Given the description of an element on the screen output the (x, y) to click on. 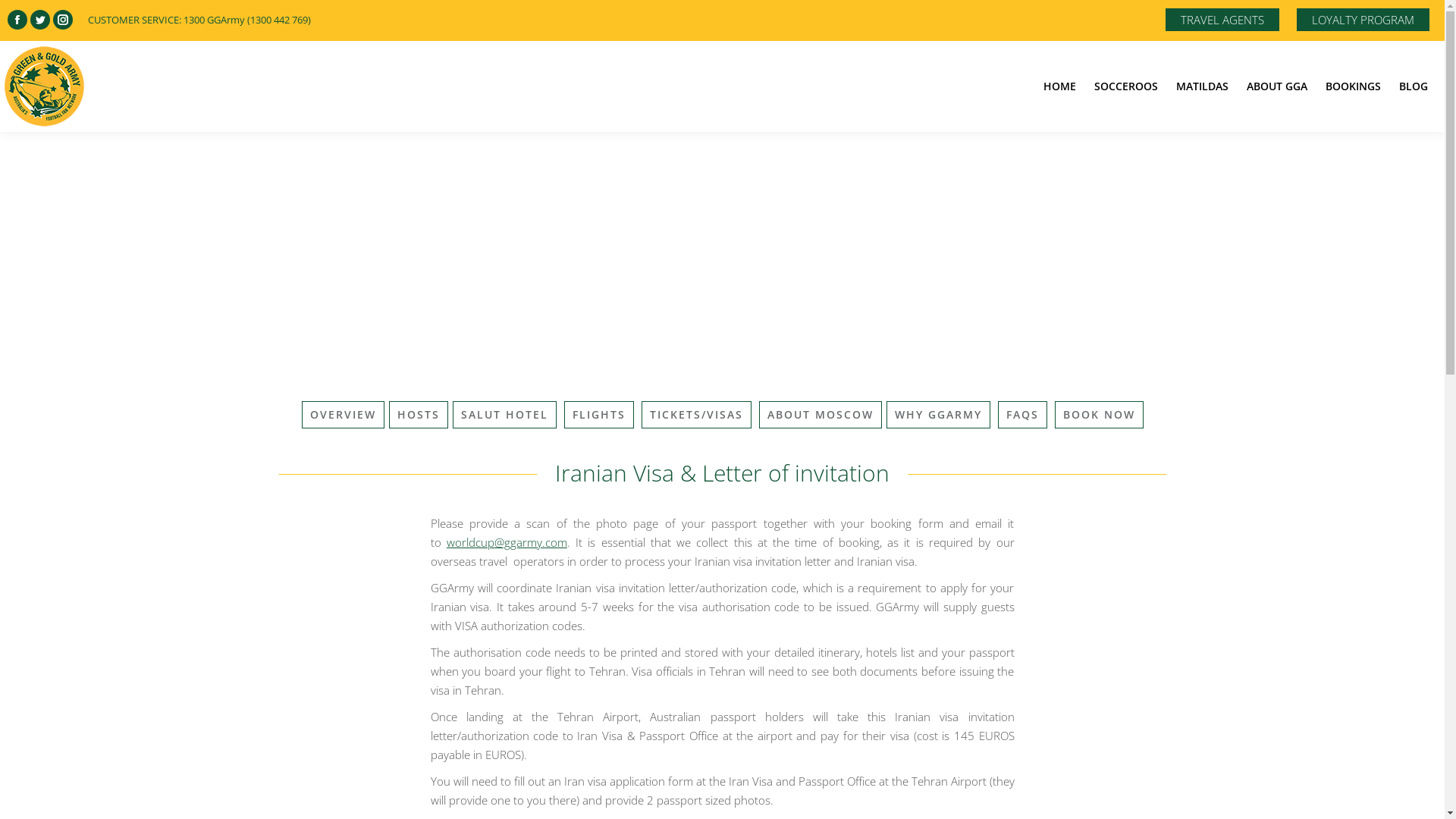
BOOKINGS Element type: text (1353, 86)
BLOG Element type: text (1413, 86)
BOOK NOW Element type: text (1098, 414)
1300 GGArmy (1300 442 769) Element type: text (246, 18)
FAQS Element type: text (1022, 414)
HOME Element type: text (1059, 86)
HOSTS Element type: text (417, 414)
Twitter page opens in new window Element type: text (40, 19)
TRAVEL AGENTS Element type: text (1222, 19)
FLIGHTS Element type: text (598, 414)
WHY GGARMY Element type: text (937, 414)
Facebook page opens in new window Element type: text (17, 19)
ABOUT MOSCOW Element type: text (819, 414)
ABOUT GGA Element type: text (1276, 86)
worldcup@ggarmy.com Element type: text (506, 541)
TICKETS/VISAS Element type: text (696, 414)
MATILDAS Element type: text (1201, 86)
OVERVIEW Element type: text (342, 414)
SALUT HOTEL Element type: text (503, 414)
SOCCEROOS Element type: text (1125, 86)
Instagram page opens in new window Element type: text (62, 19)
LOYALTY PROGRAM Element type: text (1362, 19)
